Given the description of an element on the screen output the (x, y) to click on. 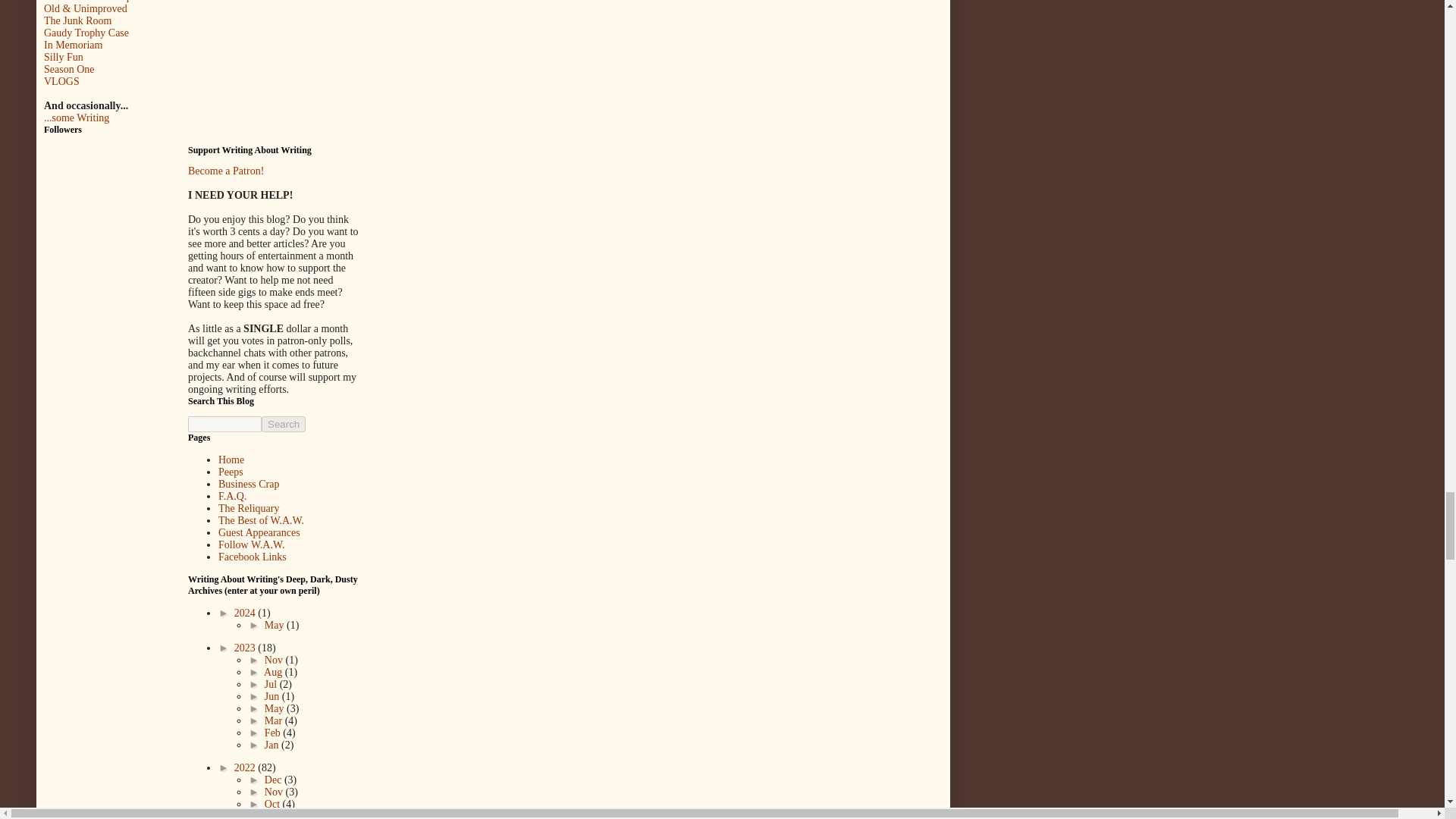
Search (283, 424)
search (224, 424)
Search (283, 424)
search (283, 424)
